Given the description of an element on the screen output the (x, y) to click on. 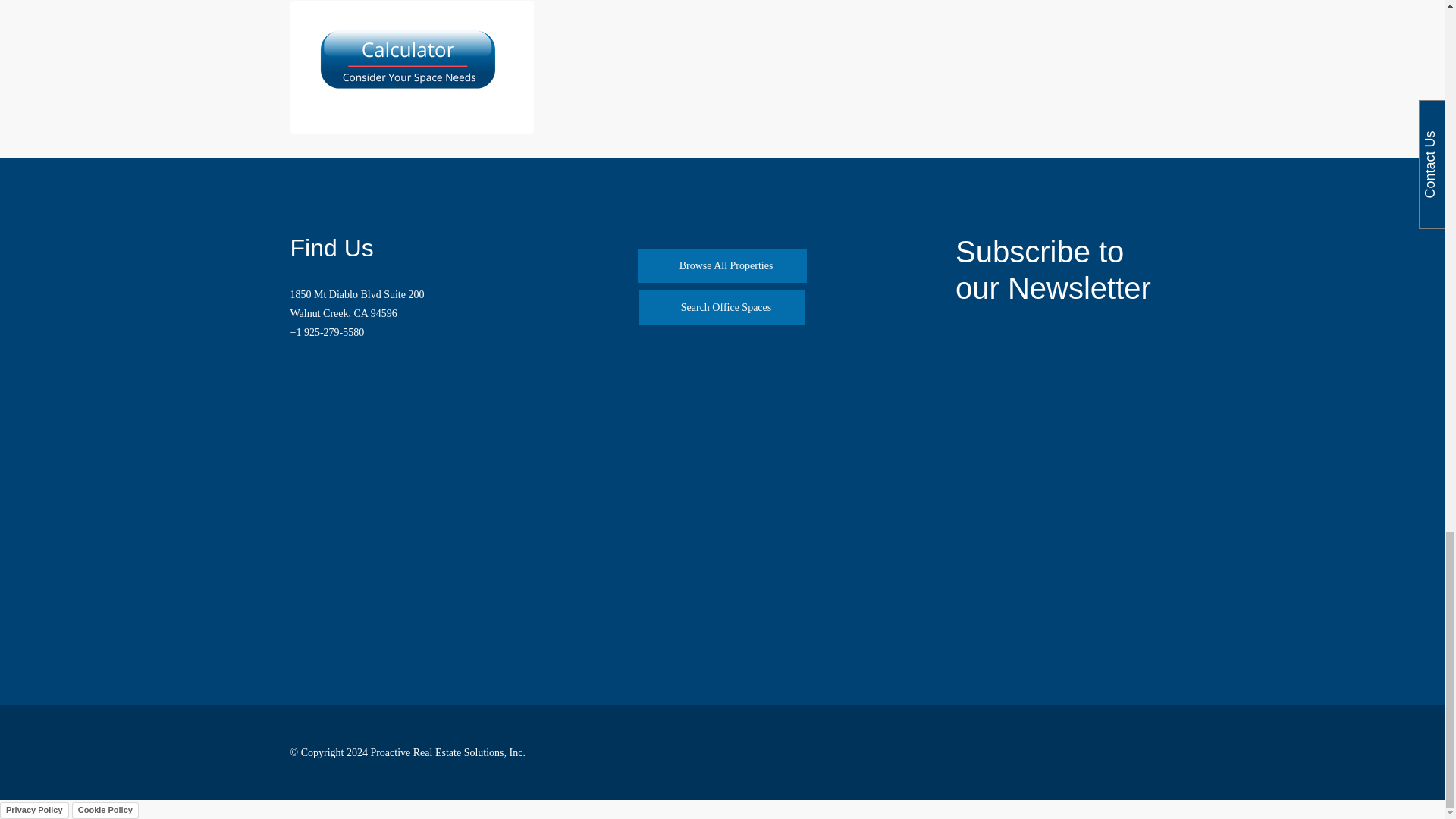
Form 1 (1054, 479)
